Given the description of an element on the screen output the (x, y) to click on. 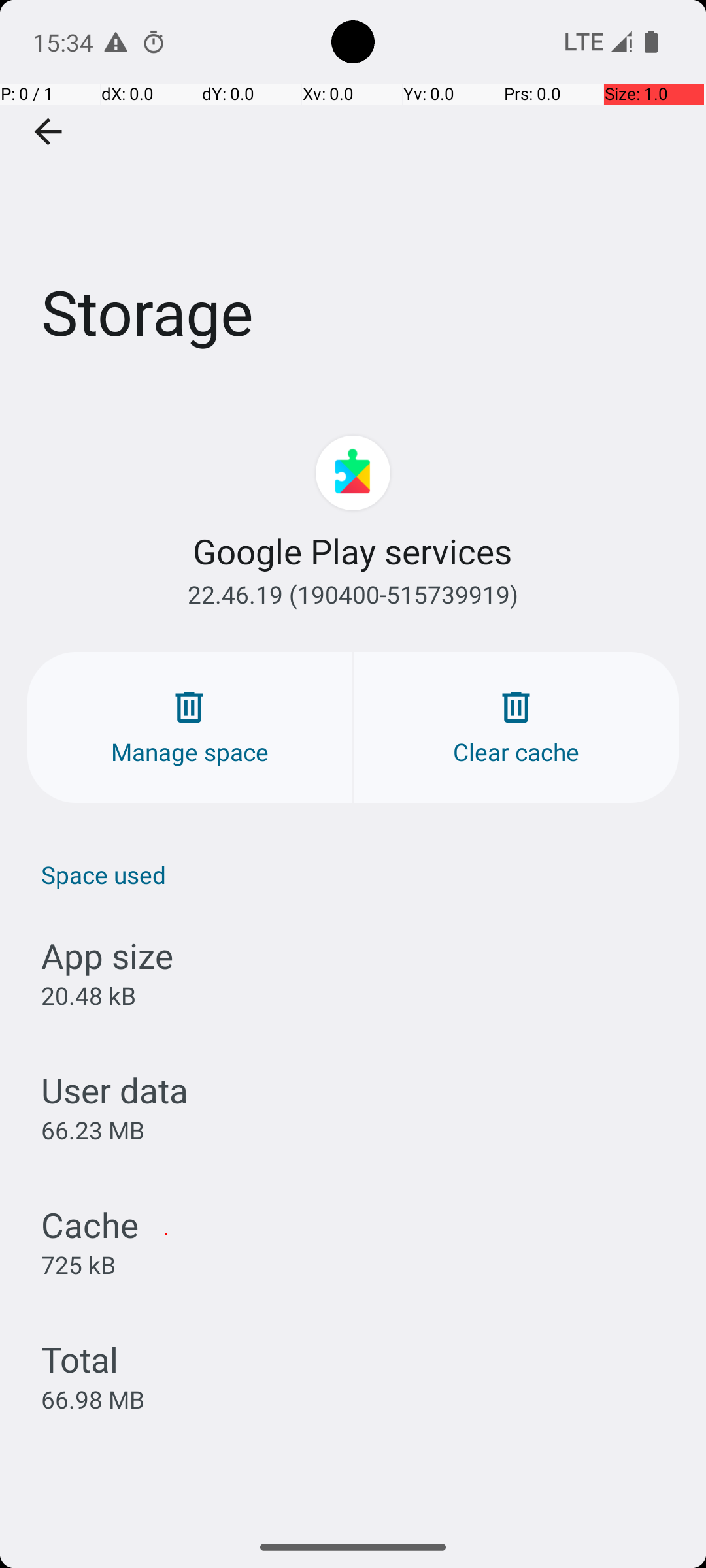
Google Play services Element type: android.widget.TextView (352, 550)
22.46.19 (190400-515739919) Element type: android.widget.TextView (352, 593)
Manage space Element type: android.widget.Button (189, 727)
Clear cache Element type: android.widget.Button (515, 727)
Space used Element type: android.widget.TextView (359, 874)
App size Element type: android.widget.TextView (107, 955)
20.48 kB Element type: android.widget.TextView (88, 995)
User data Element type: android.widget.TextView (114, 1089)
66.23 MB Element type: android.widget.TextView (92, 1129)
Cache Element type: android.widget.TextView (89, 1224)
725 kB Element type: android.widget.TextView (78, 1264)
Total Element type: android.widget.TextView (79, 1359)
66.98 MB Element type: android.widget.TextView (92, 1398)
